Given the description of an element on the screen output the (x, y) to click on. 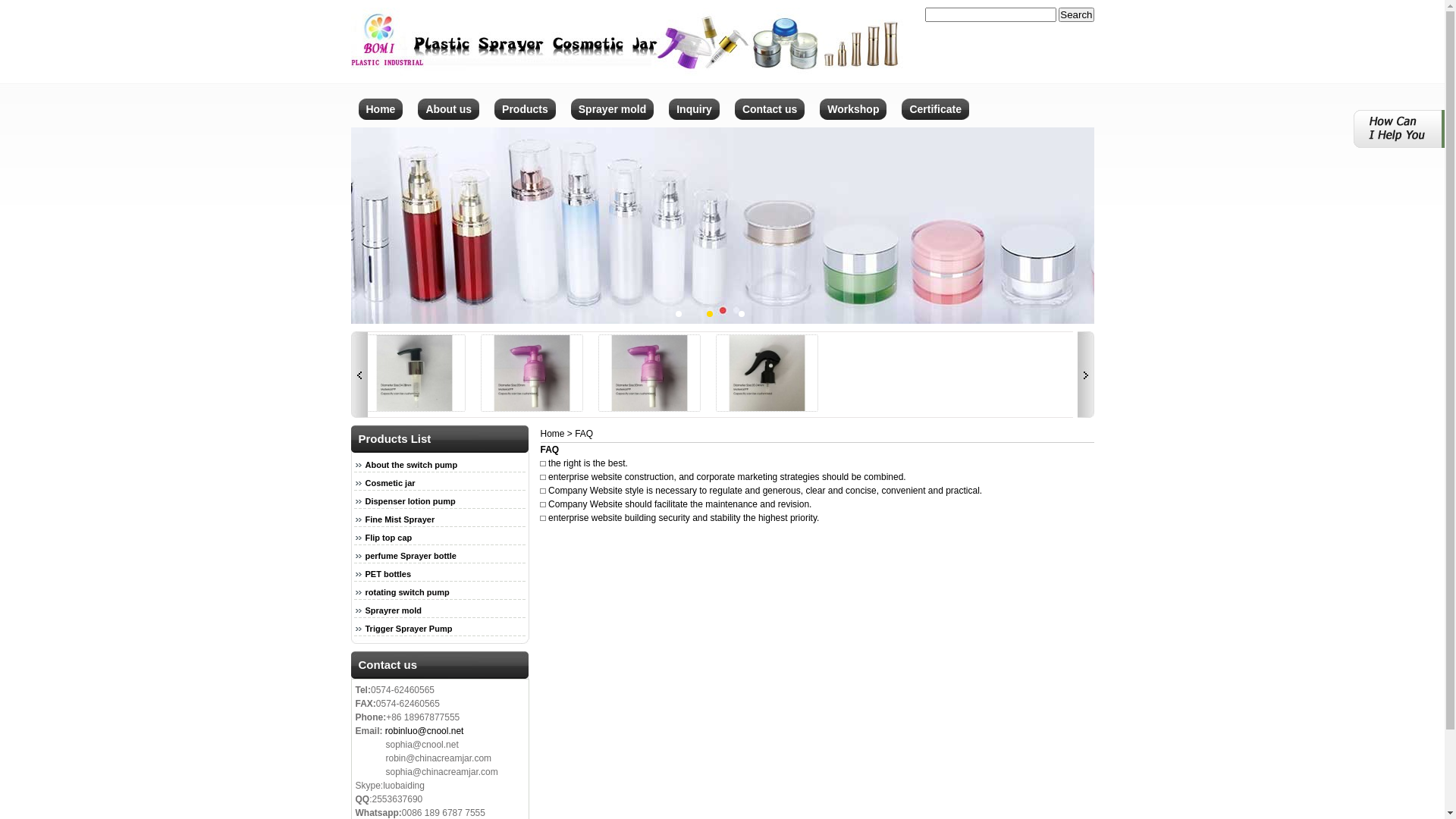
PET bottles Element type: text (382, 573)
Dispenser lotion pump Element type: text (404, 500)
Home Element type: text (551, 433)
Sprayrer mold Element type: text (387, 610)
  Element type: text (358, 374)
Flip top cap Element type: text (382, 537)
Fine Mist Sprayer Element type: text (393, 519)
  Element type: text (1084, 374)
Search Element type: text (1075, 14)
Cosmetic jar Element type: text (383, 482)
Trigger Sprayer Pump Element type: hover (660, 408)
About the switch pump Element type: hover (308, 408)
Products Element type: text (524, 122)
Home Element type: text (380, 122)
Trigger Sprayer Pump Element type: text (402, 628)
About the switch pump Element type: text (405, 464)
yuyao jiahao plastics co ltd Element type: hover (626, 72)
About us Element type: text (448, 122)
Inquiry Element type: text (694, 122)
Contact us Element type: text (769, 122)
rotating switch pump Element type: text (400, 591)
robinluo@cnool.net Element type: text (424, 730)
perfume Sprayer bottle Element type: text (404, 555)
Workshop Element type: text (853, 122)
Dispenser lotion pump Element type: hover (425, 408)
Sprayer mold Element type: text (612, 122)
Certificate Element type: text (934, 122)
Dispenser lotion pump Element type: hover (543, 408)
